Given the description of an element on the screen output the (x, y) to click on. 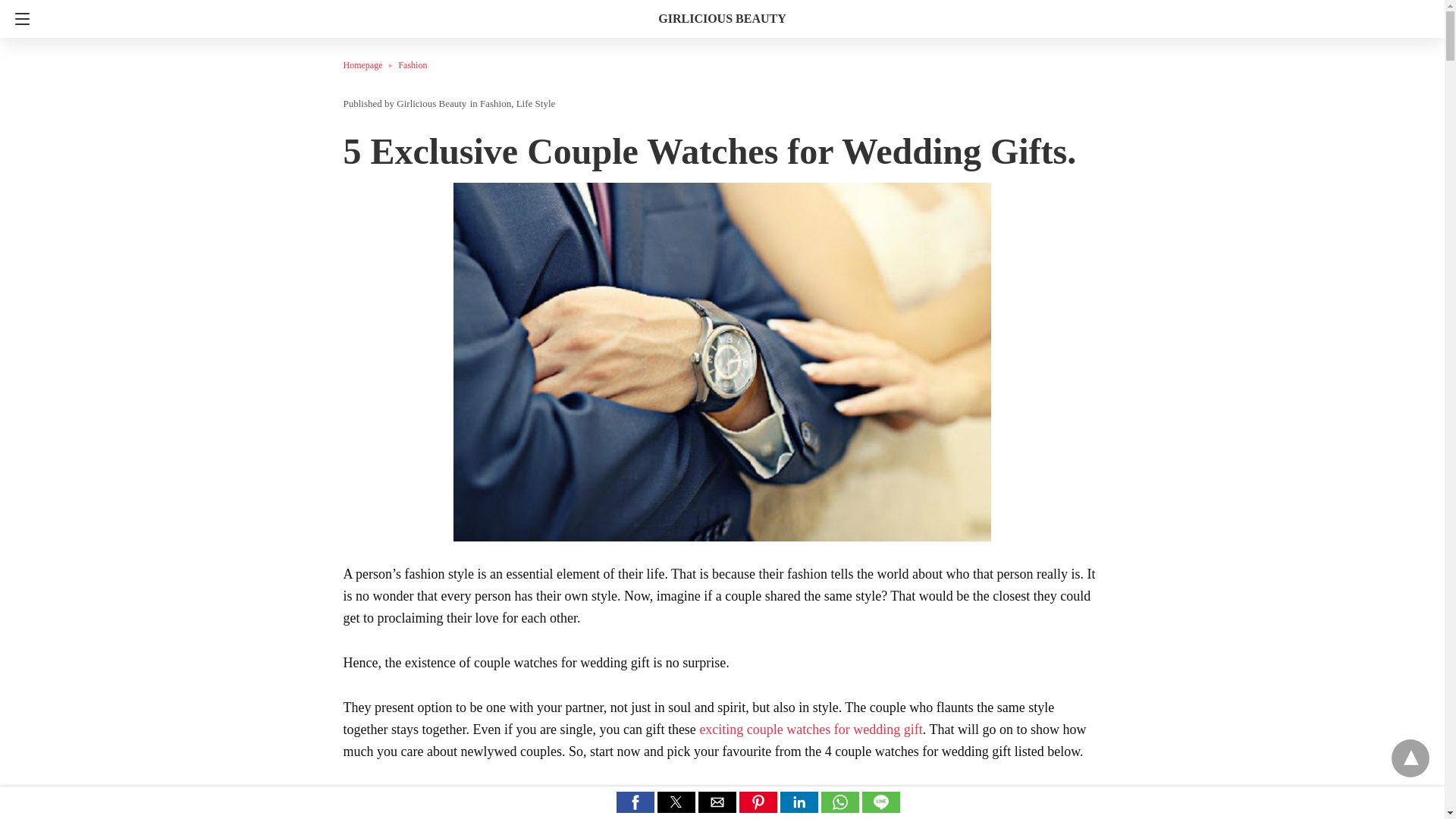
Fashion (411, 64)
Fashion (495, 102)
exciting couple watches for wedding gift (809, 729)
Homepage (369, 64)
Life Style (536, 102)
GIRLICIOUS BEAUTY (722, 18)
Fashion (411, 64)
Homepage (369, 64)
